Given the description of an element on the screen output the (x, y) to click on. 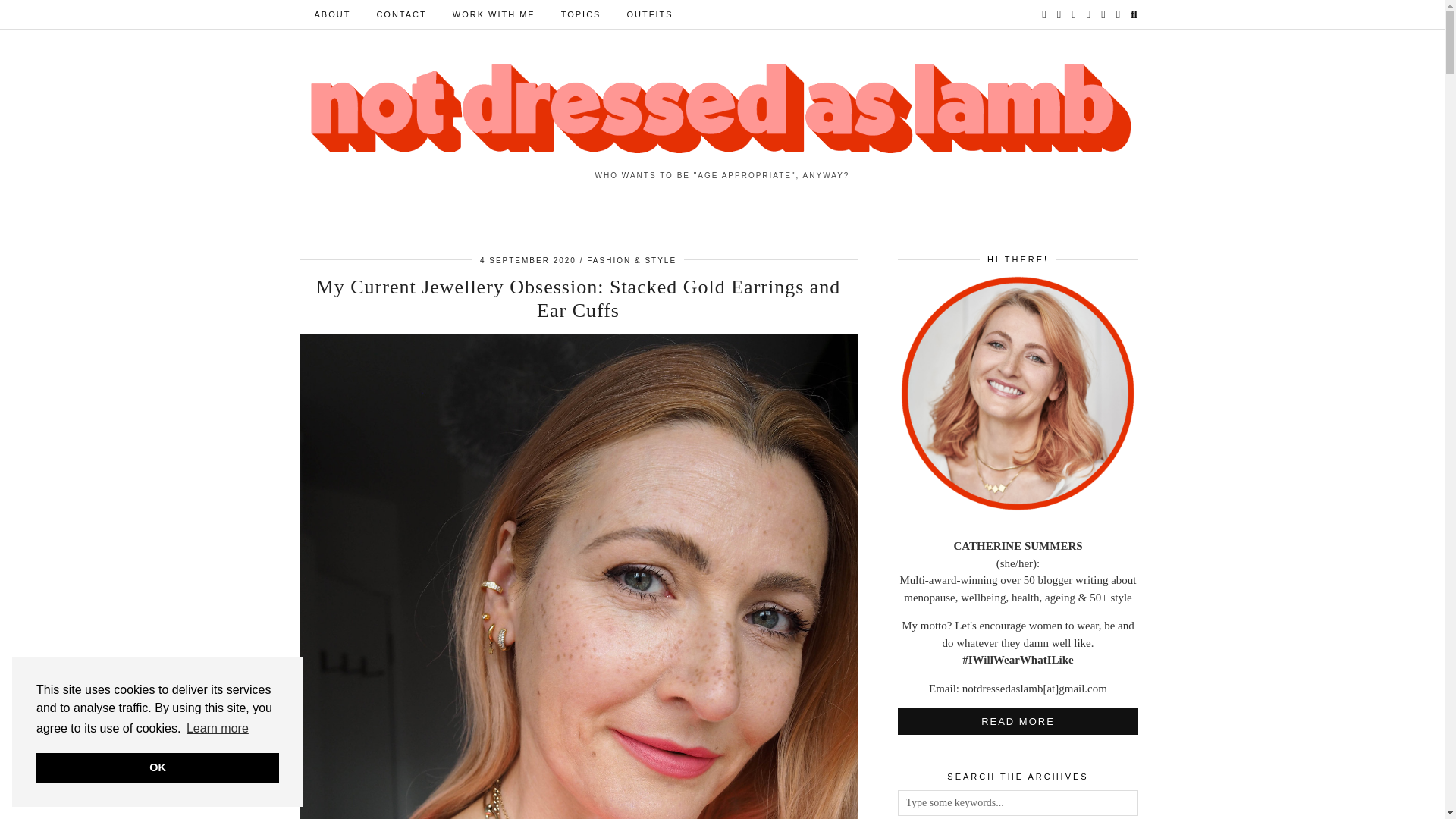
RSS Feed (1103, 14)
Bloglovin (1074, 14)
OK (157, 767)
Not Dressed As Lamb (721, 108)
Instagram (1044, 14)
Learn more (217, 728)
Pinterest (1059, 14)
